Given the description of an element on the screen output the (x, y) to click on. 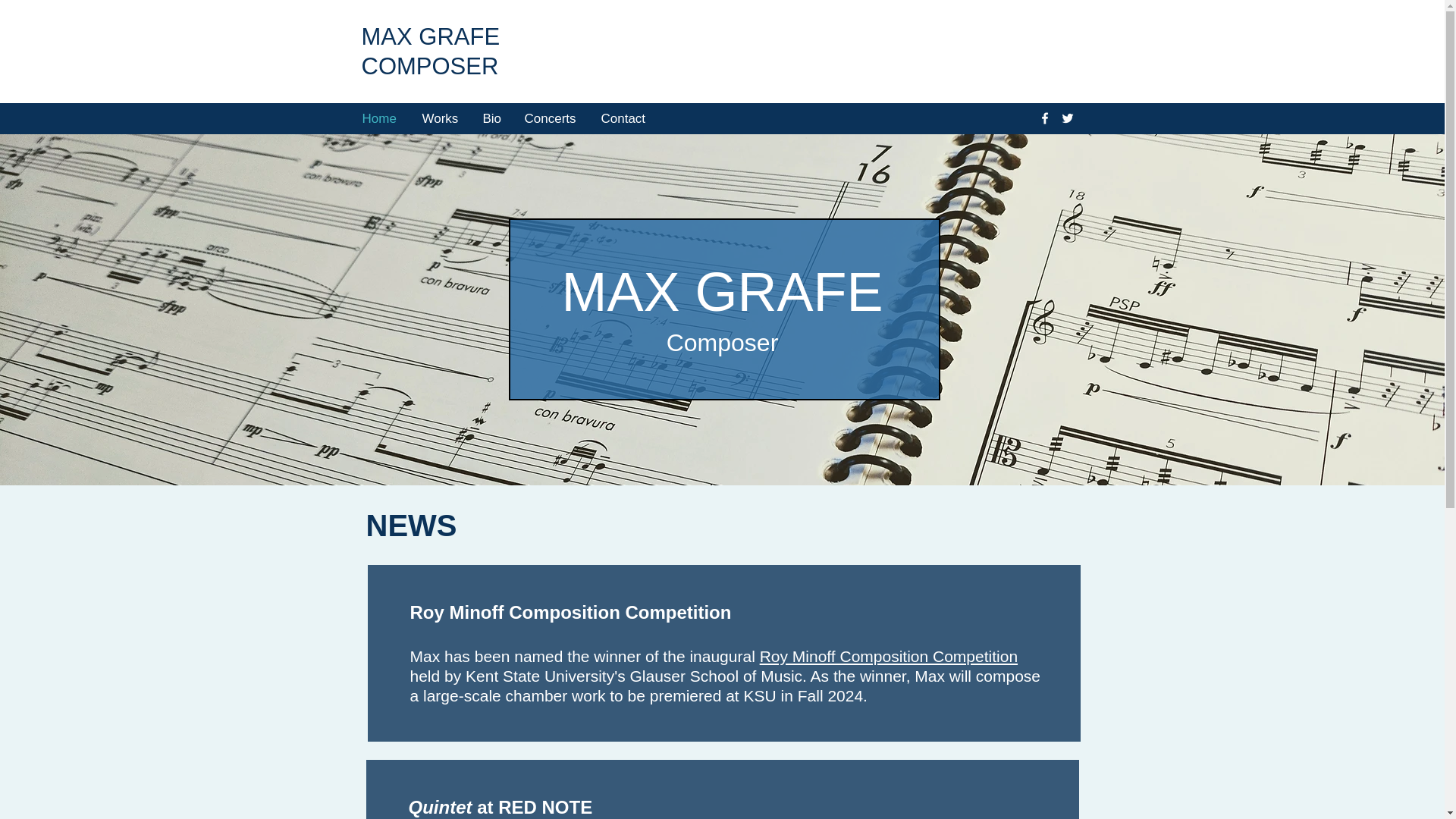
Concerts (550, 118)
Bio (492, 118)
Roy Minoff Composition Competition (888, 656)
Home (380, 118)
Contact (624, 118)
Works (440, 118)
